Given the description of an element on the screen output the (x, y) to click on. 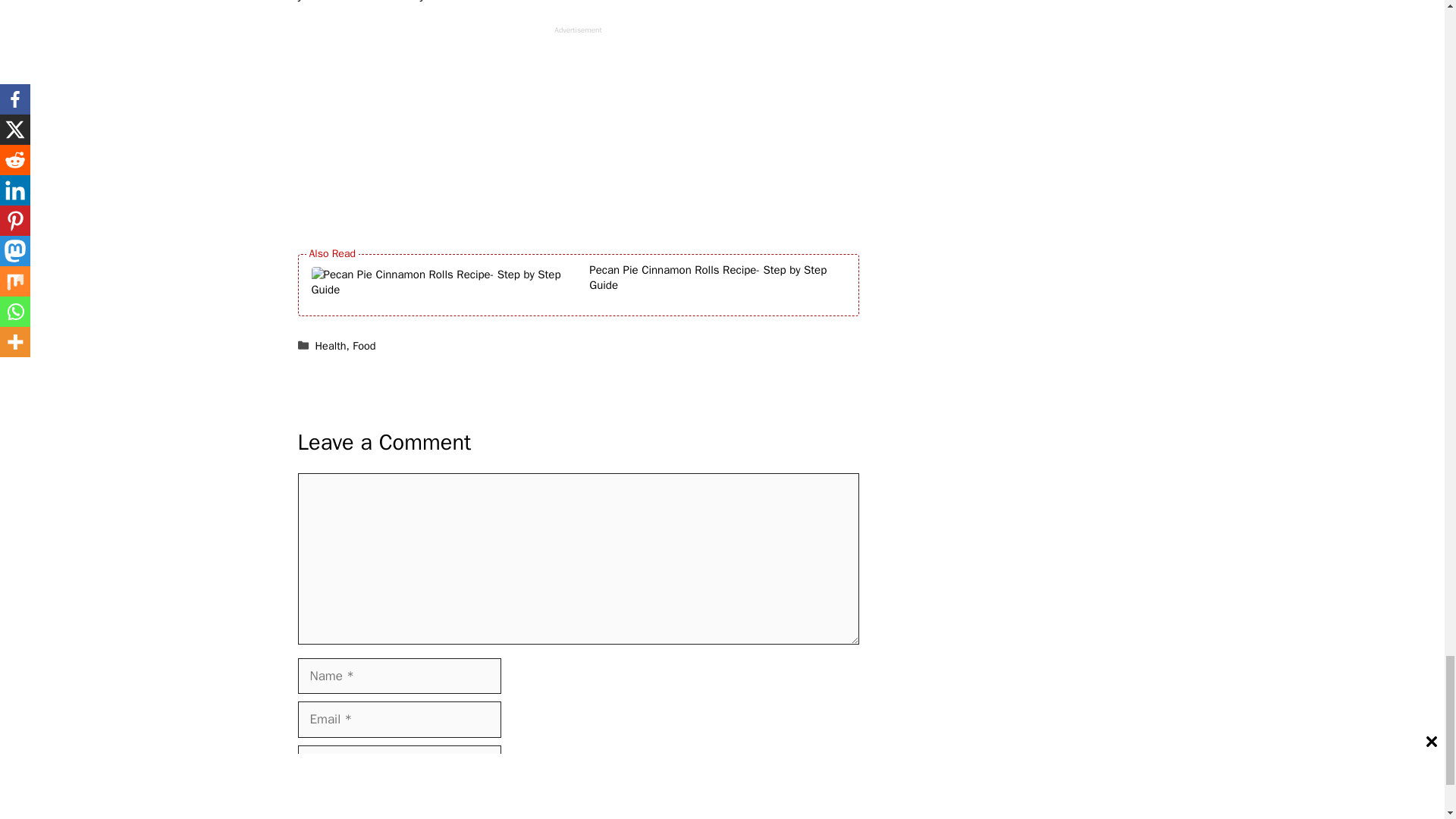
Health (330, 345)
Pecan Pie Cinnamon Rolls Recipe- Step by Step Guide (719, 284)
yes (302, 798)
Food (363, 345)
